Given the description of an element on the screen output the (x, y) to click on. 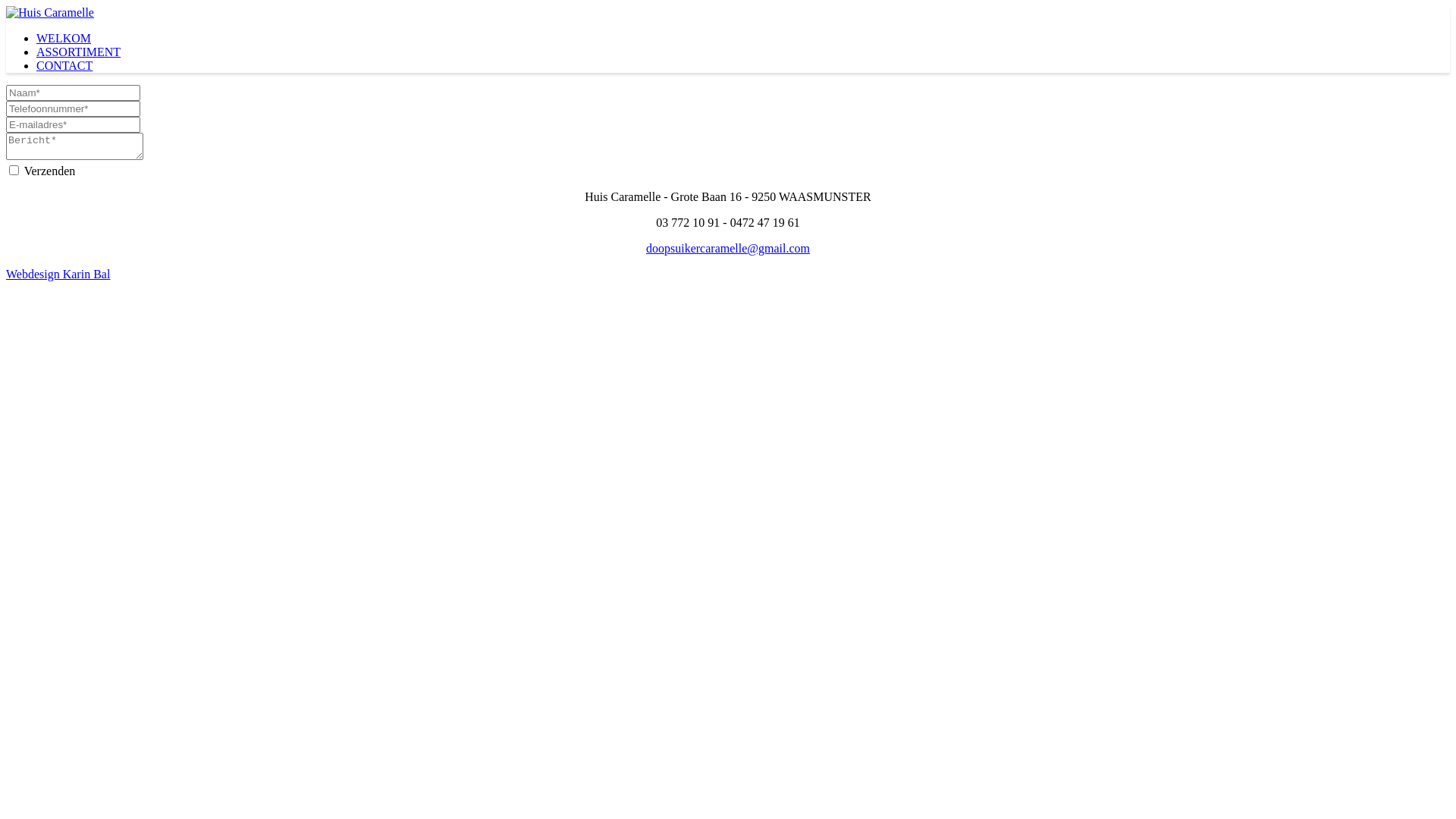
WELKOM Element type: text (63, 37)
Webdesign Karin Bal Element type: text (57, 273)
doopsuikercaramelle@gmail.com Element type: text (727, 247)
ASSORTIMENT Element type: text (78, 51)
CONTACT Element type: text (64, 65)
Huis Caramelle Element type: hover (50, 12)
